Given the description of an element on the screen output the (x, y) to click on. 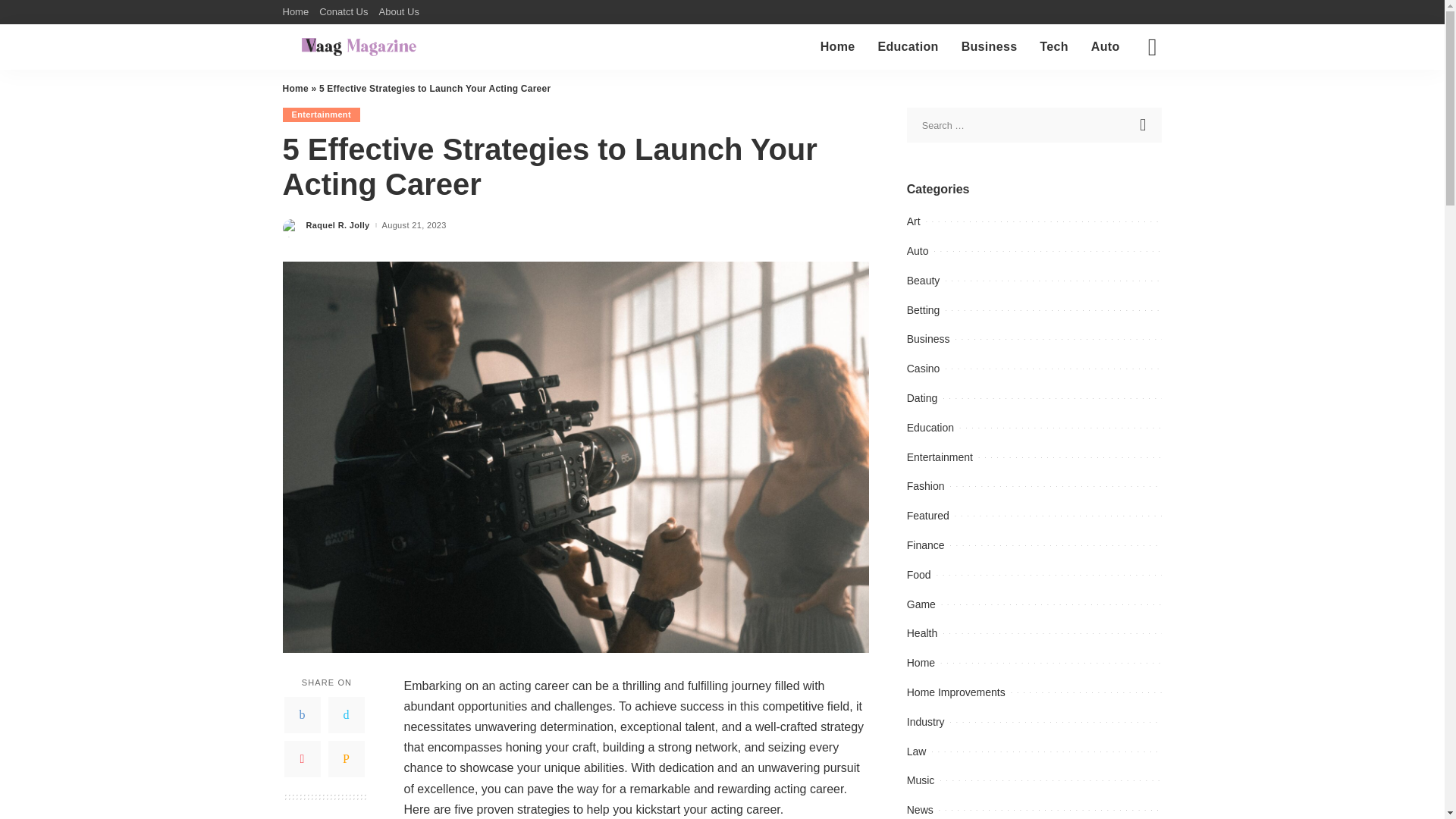
Home (837, 46)
Conatct Us (343, 11)
Business (989, 46)
Facebook (301, 714)
Pinterest (301, 759)
Home (294, 88)
Entertainment (320, 114)
Vaag Magazine (358, 46)
Twitter (345, 714)
About Us (397, 11)
